Given the description of an element on the screen output the (x, y) to click on. 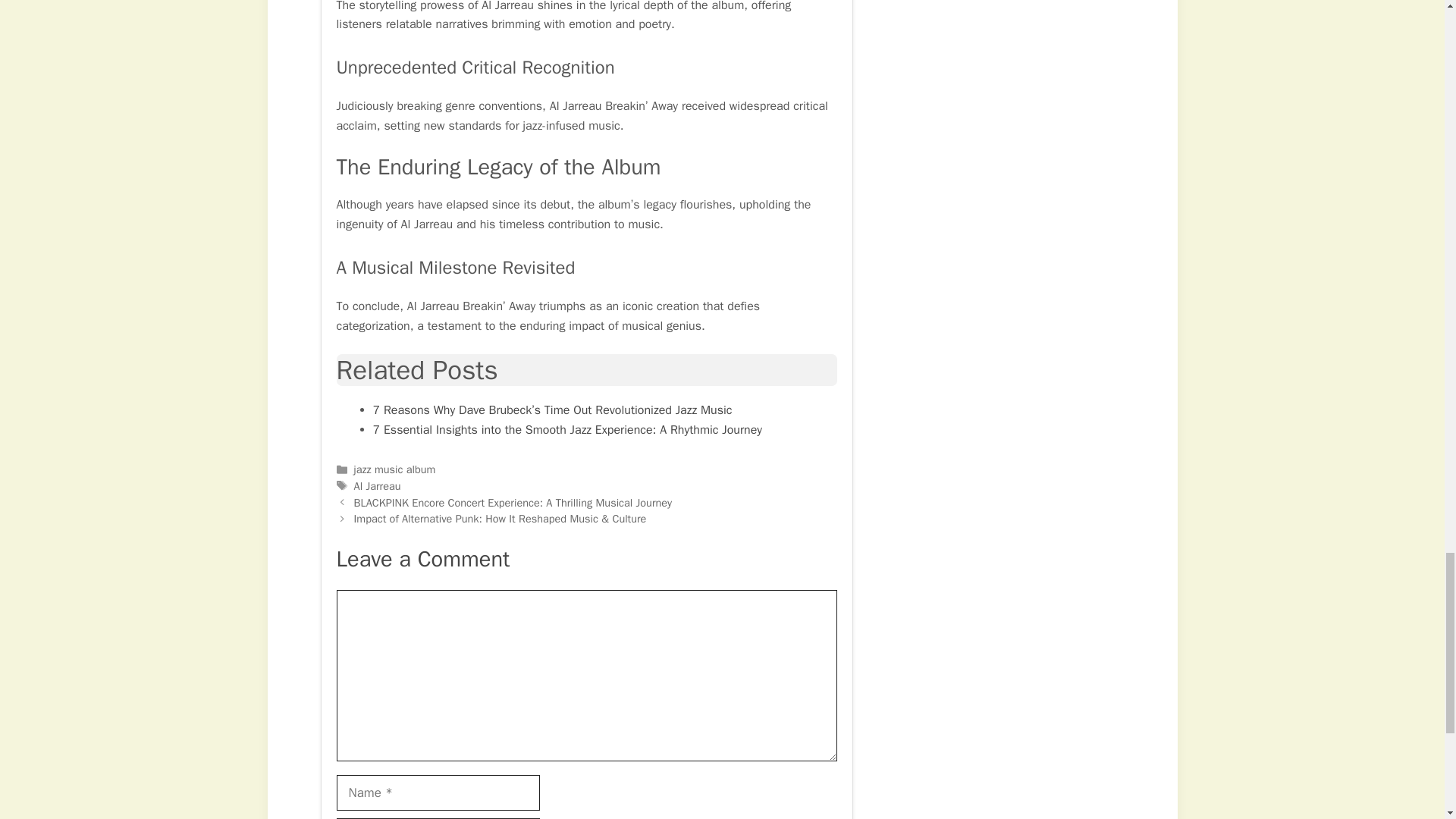
Al Jarreau (377, 486)
jazz music album (394, 468)
